Given the description of an element on the screen output the (x, y) to click on. 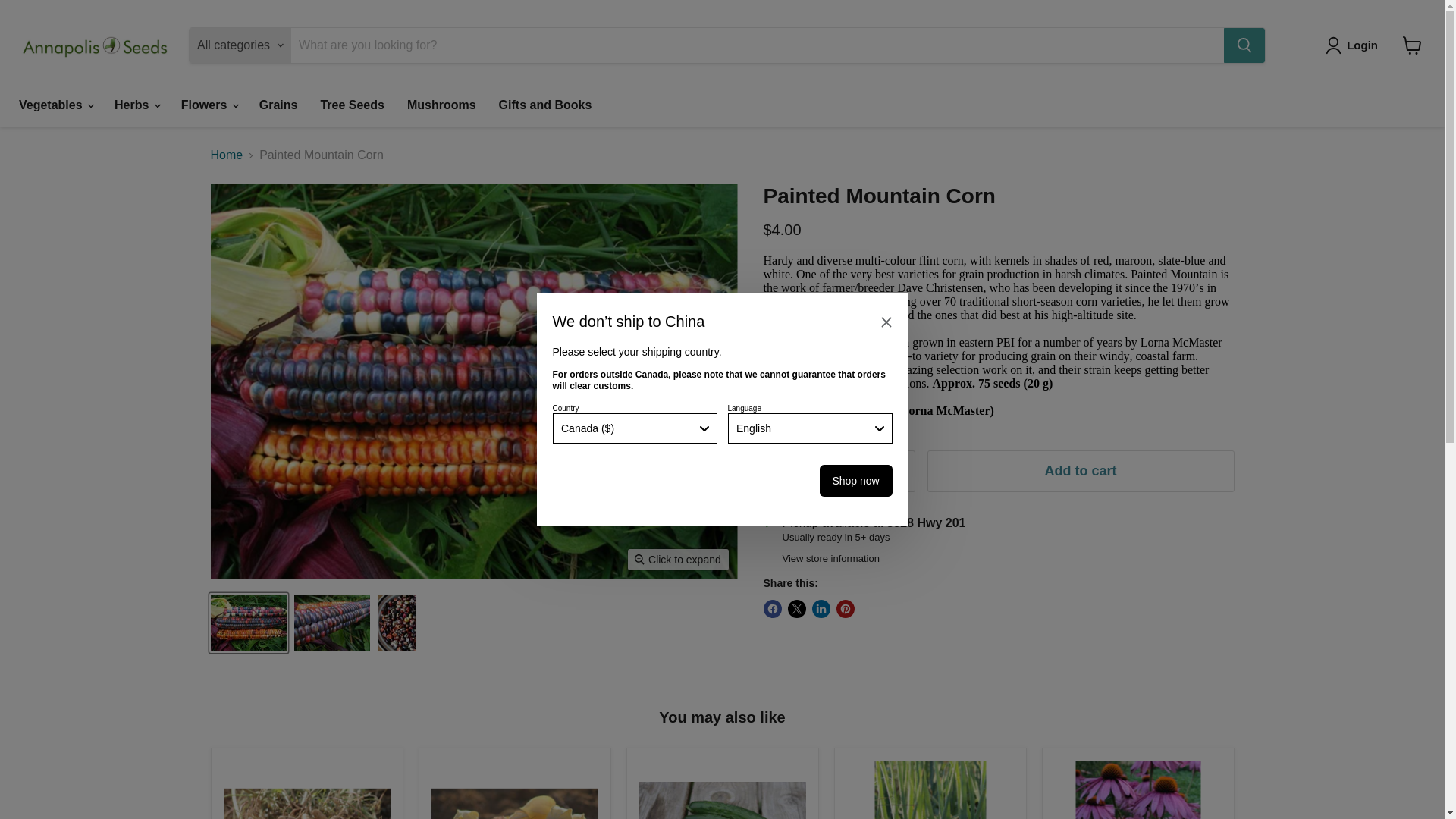
View cart (1411, 45)
1 (839, 471)
Grains (277, 105)
English (810, 428)
Shop now (855, 480)
Login (1354, 45)
